Given the description of an element on the screen output the (x, y) to click on. 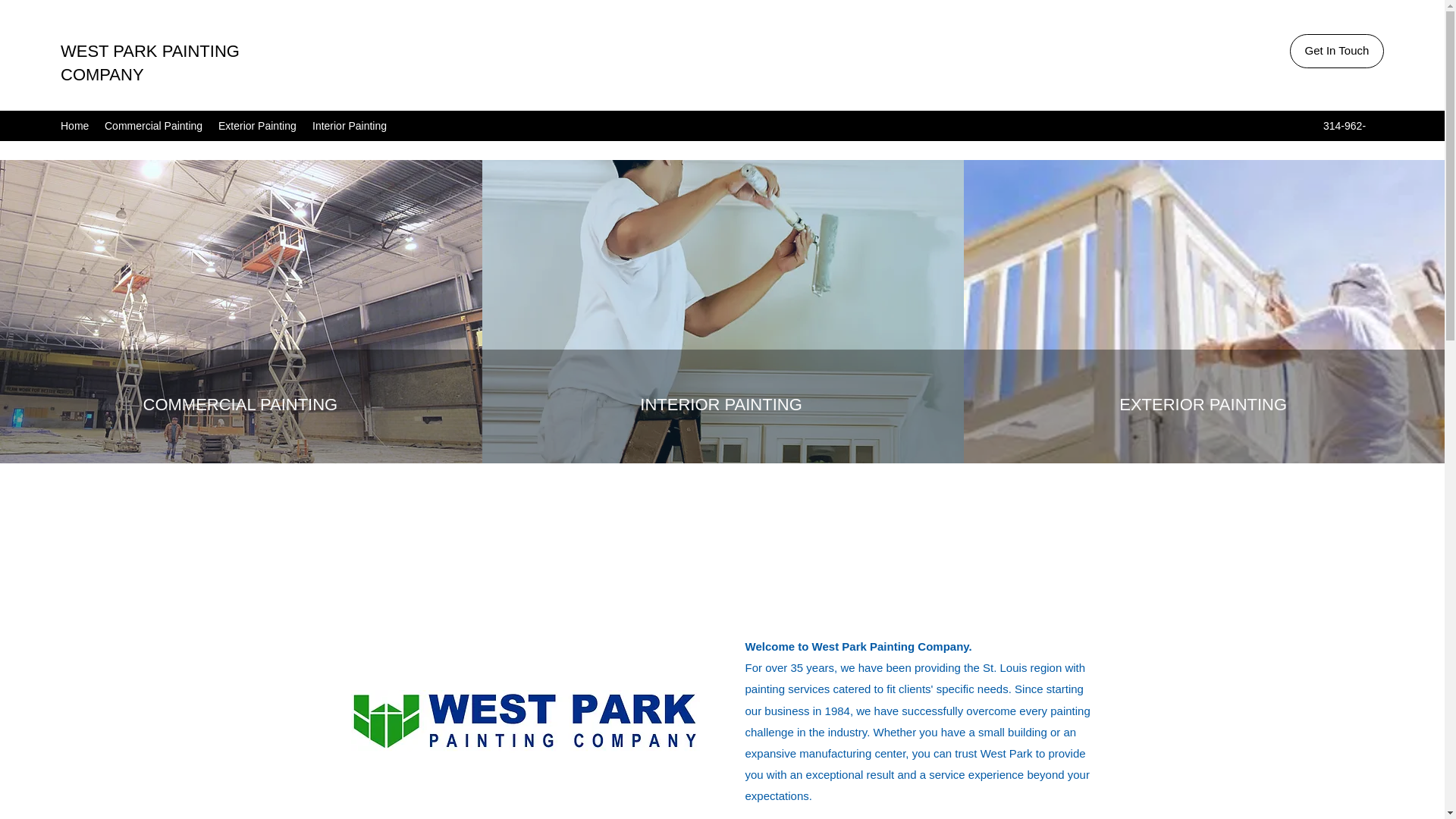
Exterior Painting (257, 125)
Commercial Painting (154, 125)
Interior Painting (350, 125)
Get In Touch (1337, 50)
Home (74, 125)
WEST PARK PAINTING COMPANY (150, 62)
